Given the description of an element on the screen output the (x, y) to click on. 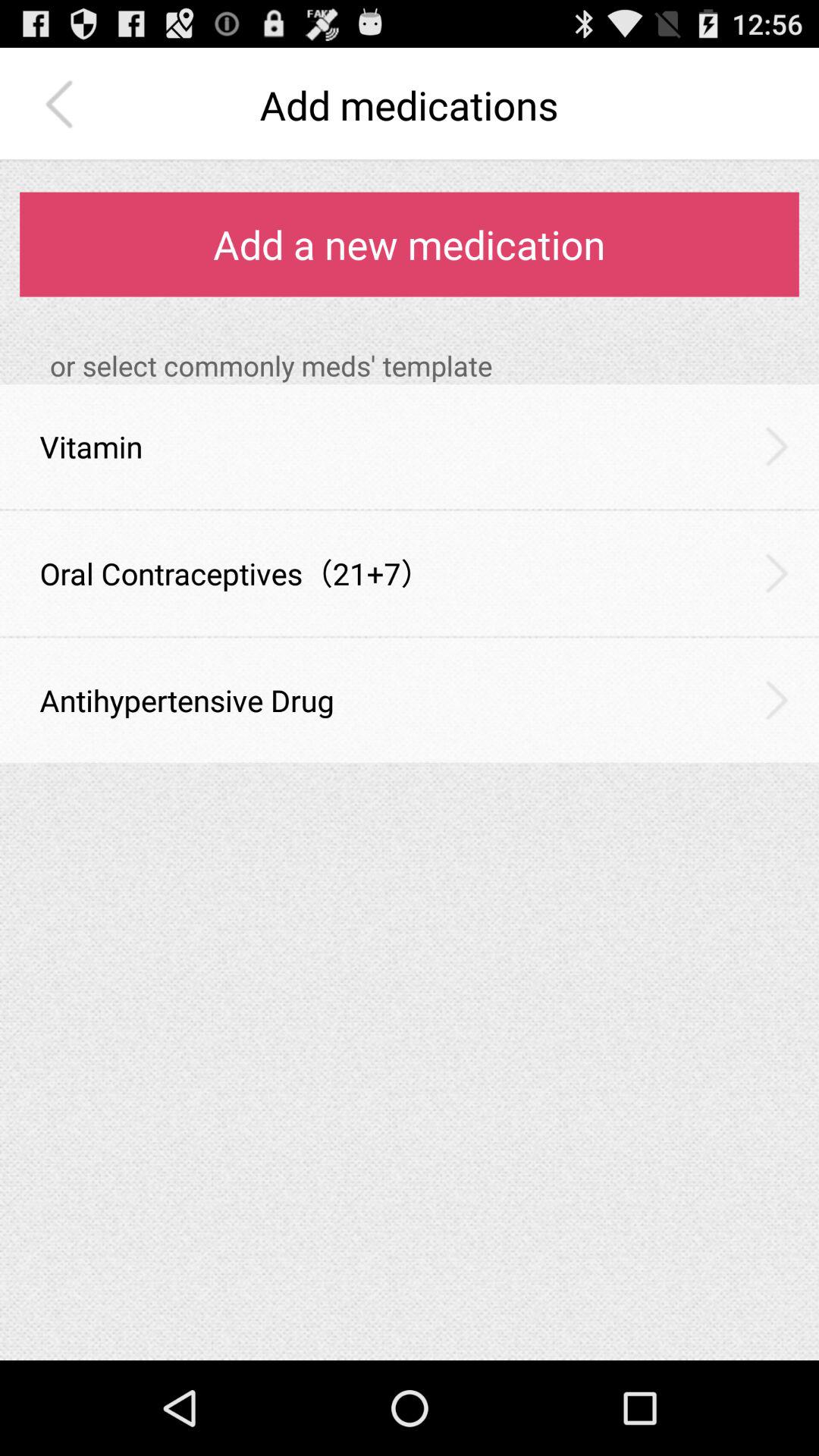
flip until vitamin (90, 446)
